Given the description of an element on the screen output the (x, y) to click on. 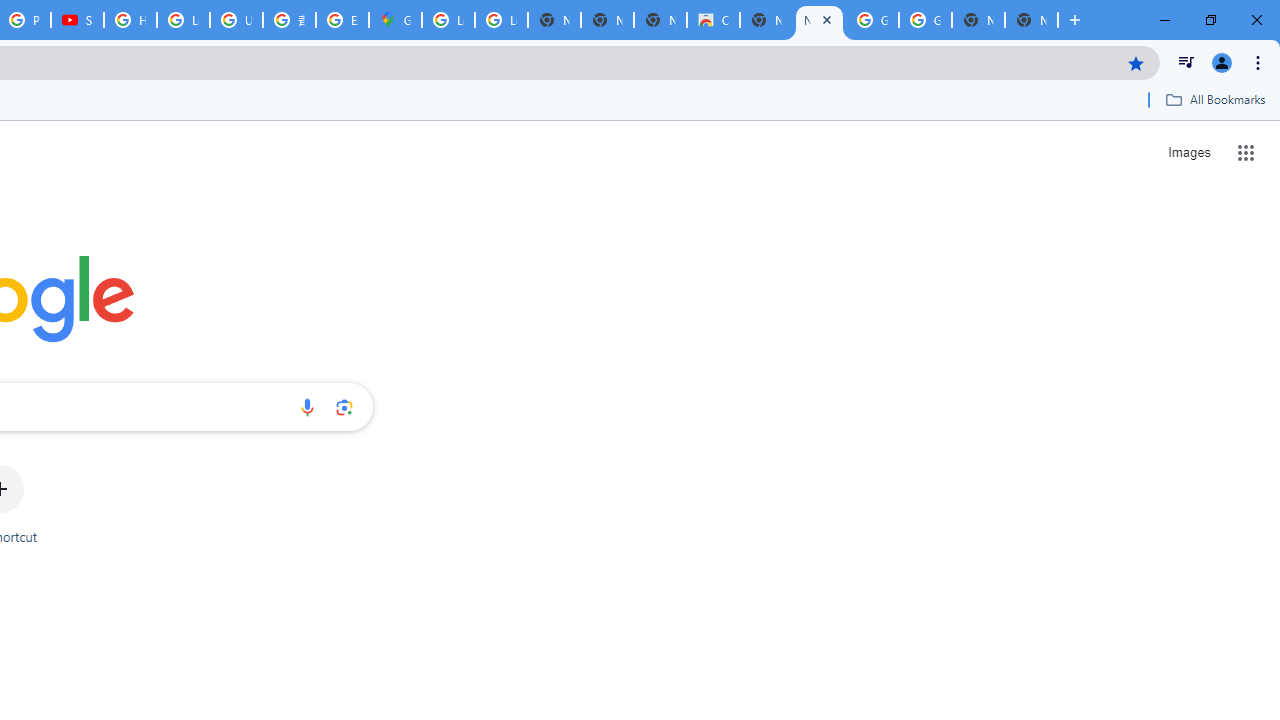
Subscriptions - YouTube (77, 20)
